Given the description of an element on the screen output the (x, y) to click on. 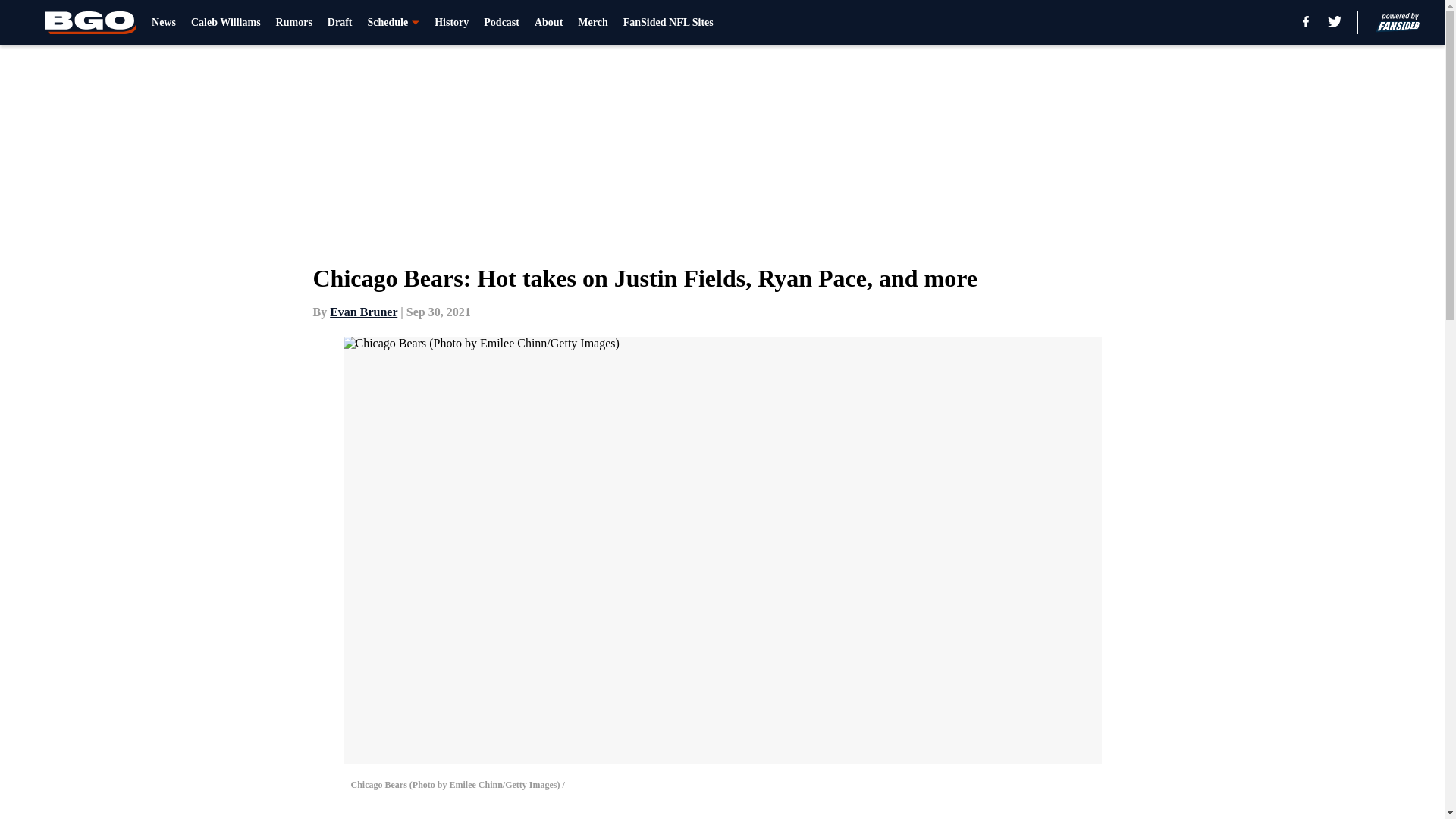
Merch (592, 22)
Podcast (501, 22)
FanSided NFL Sites (668, 22)
News (163, 22)
History (450, 22)
Evan Bruner (363, 311)
Caleb Williams (225, 22)
Draft (339, 22)
About (548, 22)
Rumors (294, 22)
